Given the description of an element on the screen output the (x, y) to click on. 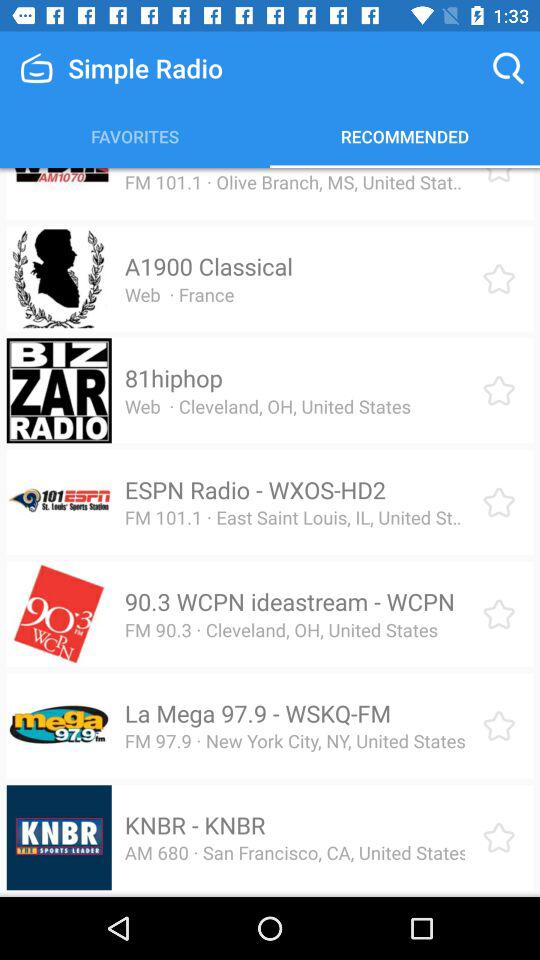
select the 81hiphop (173, 378)
